Given the description of an element on the screen output the (x, y) to click on. 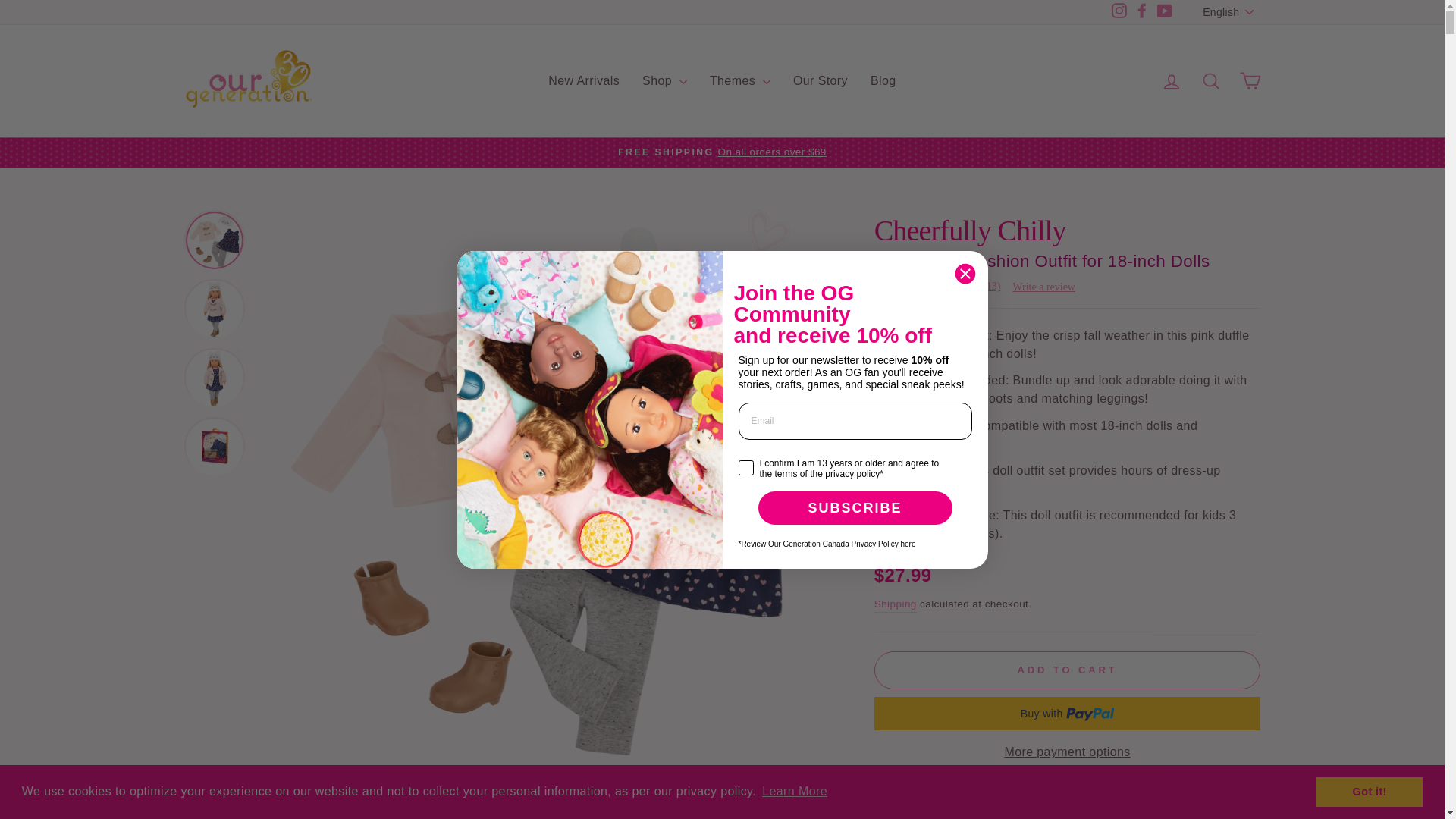
Learn More (794, 791)
on (743, 452)
Our Generation - Canada on Instagram (1119, 11)
Got it! (1369, 791)
Our Generation - Canada on YouTube (1164, 11)
Our Generation - Canada on Facebook (1142, 11)
